Given the description of an element on the screen output the (x, y) to click on. 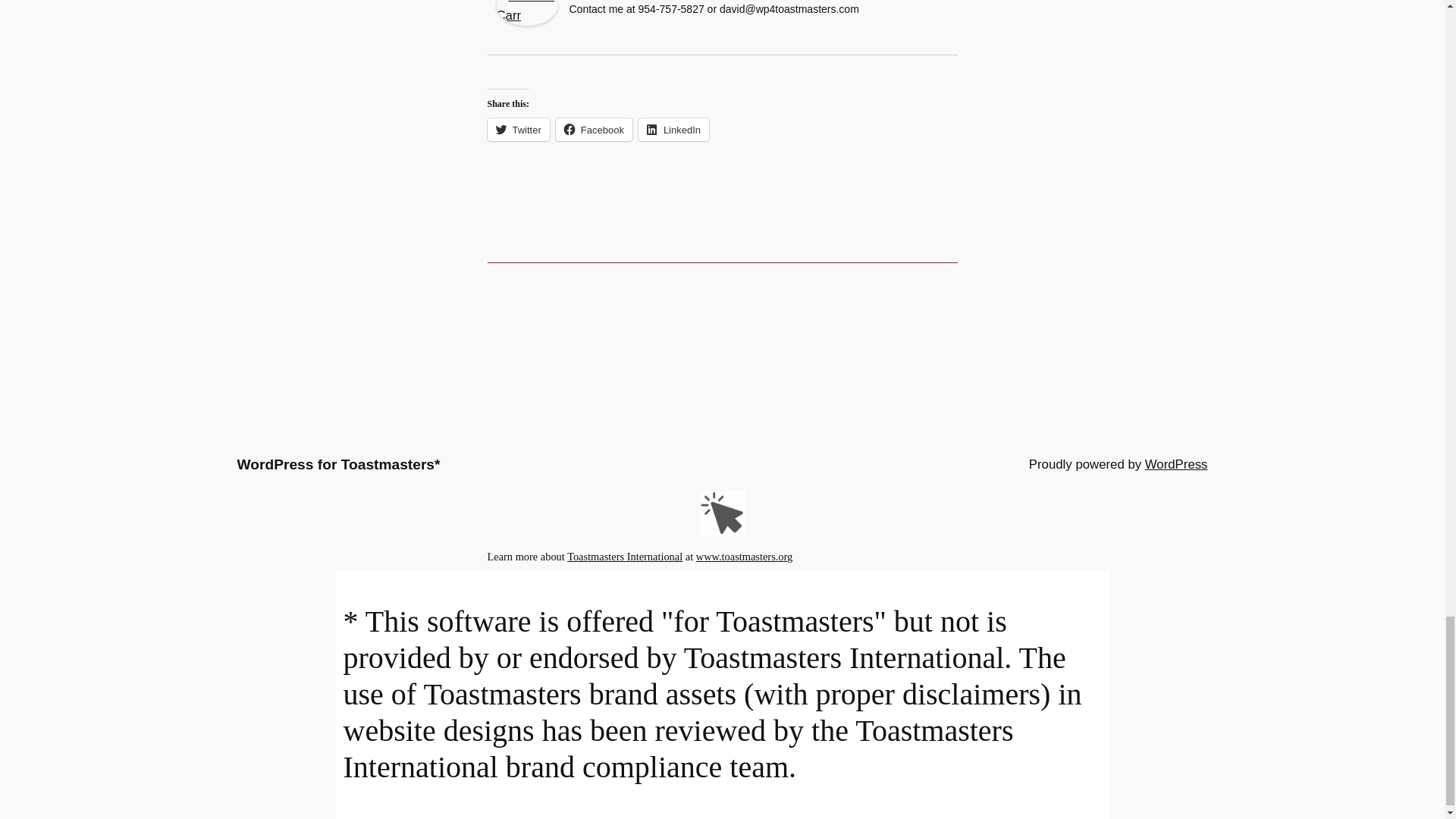
WordPress (1176, 464)
Click to share on Twitter (517, 128)
Twitter (517, 128)
LinkedIn (674, 128)
Click to share on Facebook (593, 128)
Facebook (593, 128)
Click to share on LinkedIn (674, 128)
David F. Carr (526, 21)
